Given the description of an element on the screen output the (x, y) to click on. 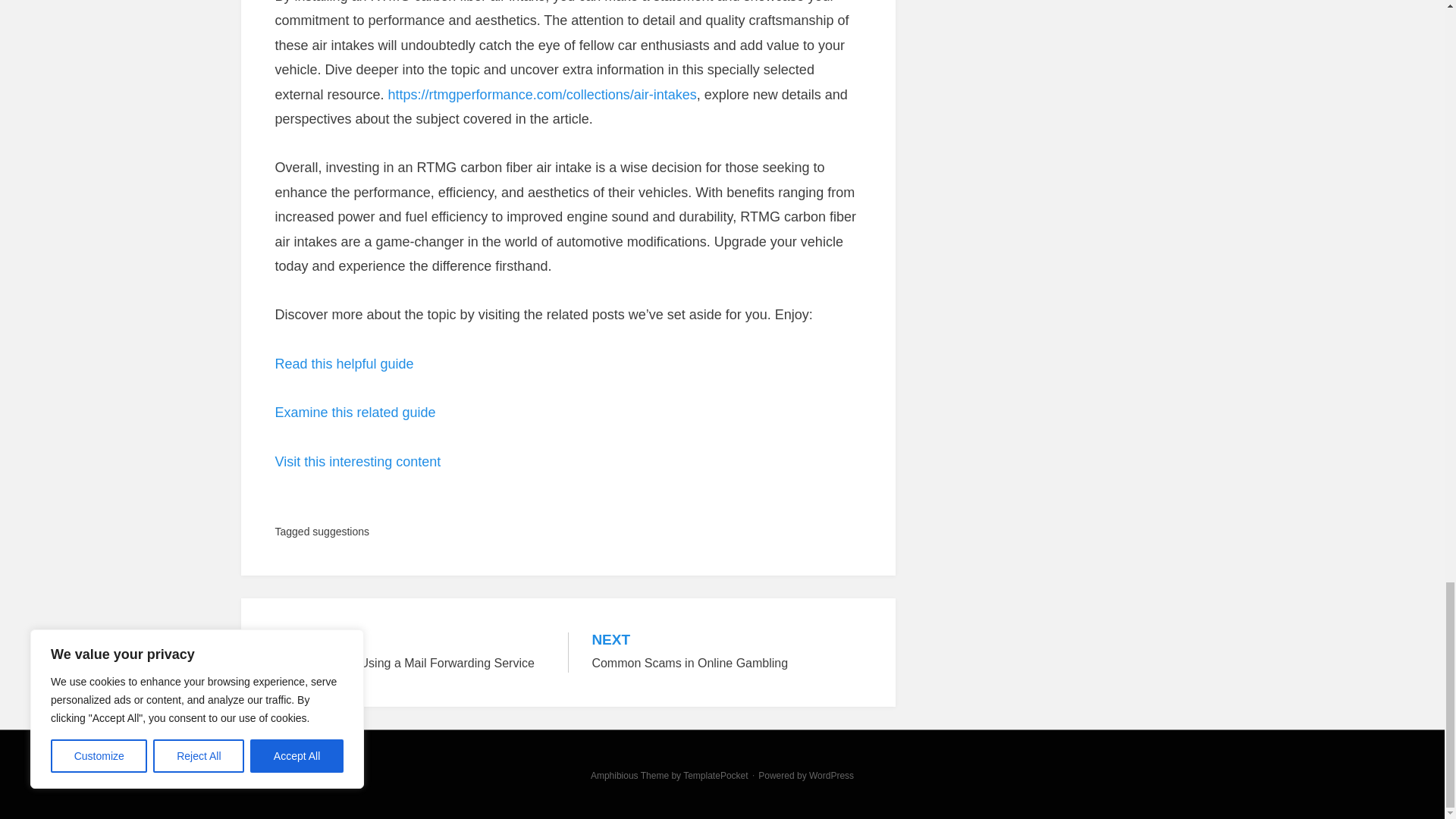
Read this helpful guide (344, 363)
WordPress (831, 775)
TemplatePocket (715, 775)
Examine this related guide (409, 652)
Visit this interesting content (355, 412)
suggestions (358, 461)
